Given the description of an element on the screen output the (x, y) to click on. 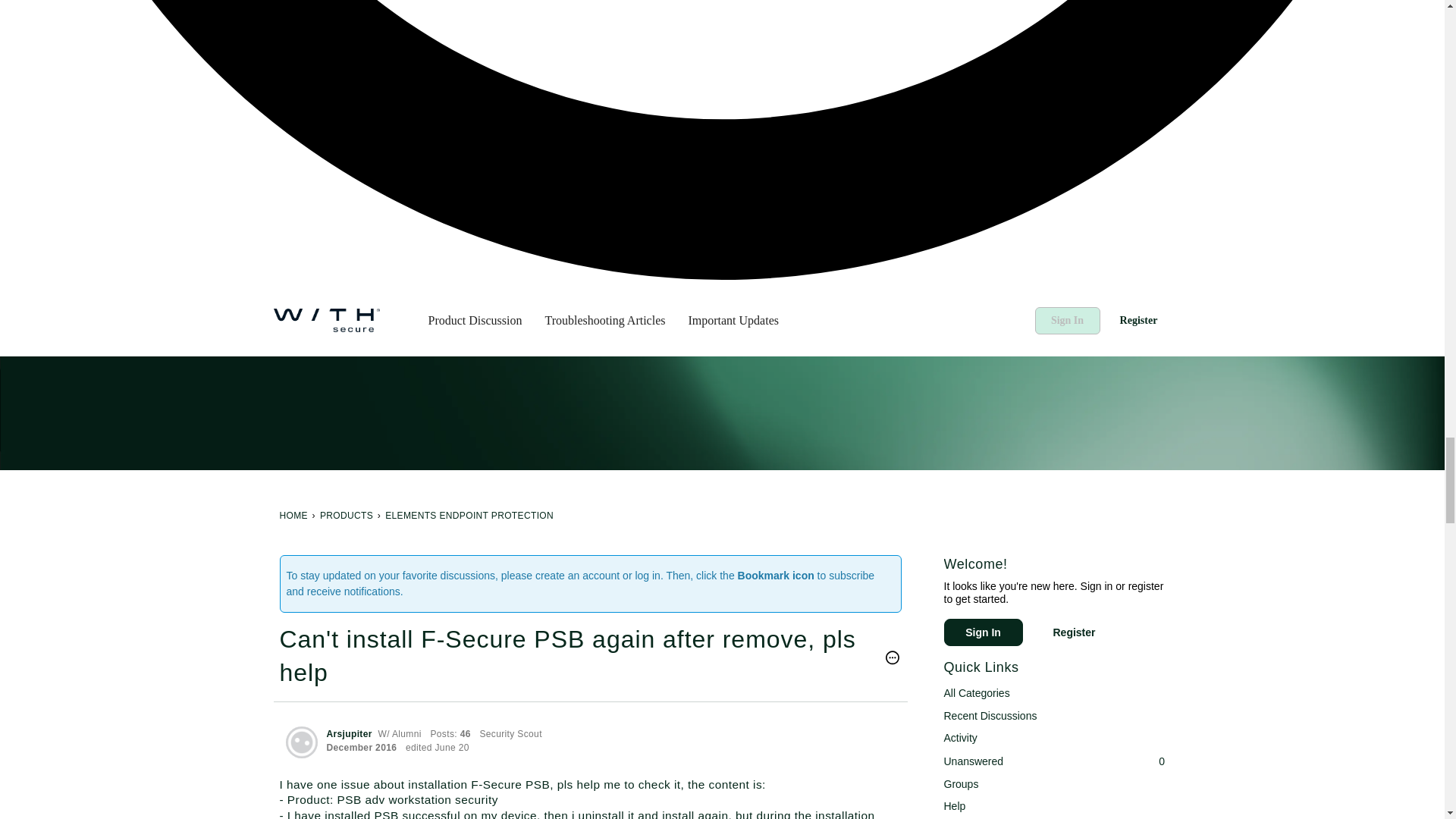
Troubleshooting Articles (605, 319)
Recent Discussions (1053, 716)
Register (1137, 319)
ELEMENTS ENDPOINT PROTECTION (469, 515)
Register (1073, 632)
HOME (293, 515)
Sign In (982, 632)
Sign In (982, 632)
December 14, 2016 3:03PM (361, 747)
Sign In (1066, 319)
Edited June 20, 2024 10:16AM by LiselotteP. (437, 747)
PRODUCTS (346, 515)
Help (1053, 806)
Activity (1053, 738)
Register (1073, 632)
